Given the description of an element on the screen output the (x, y) to click on. 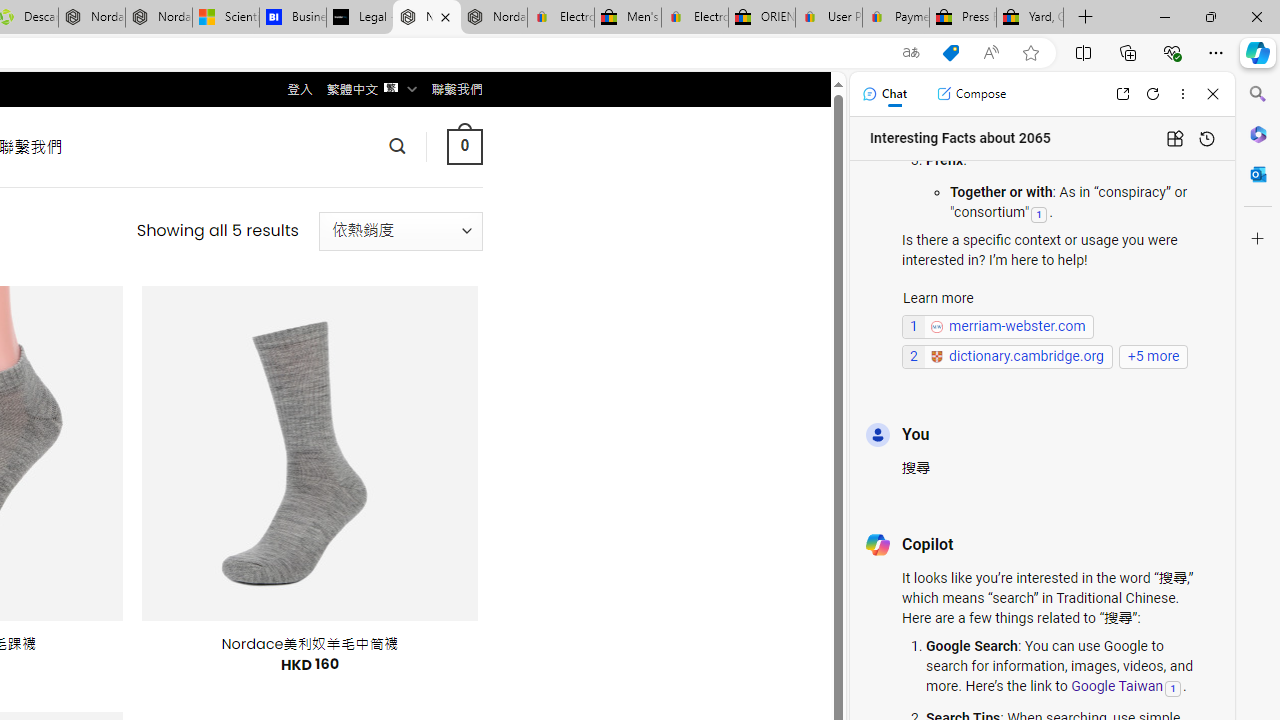
  0   (464, 146)
 0  (464, 146)
Compose (971, 93)
